Given the description of an element on the screen output the (x, y) to click on. 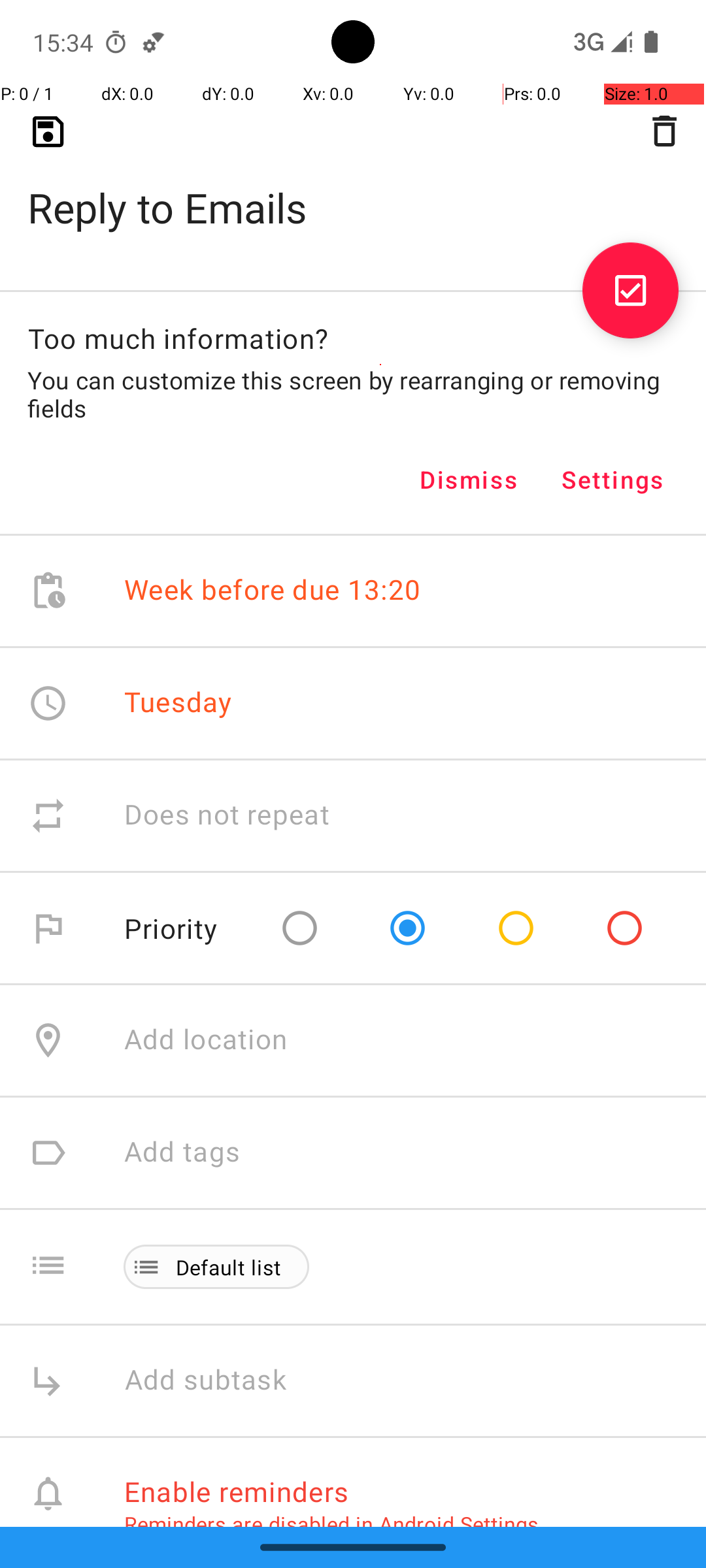
Week before due 13:20 Element type: android.widget.TextView (272, 590)
